Given the description of an element on the screen output the (x, y) to click on. 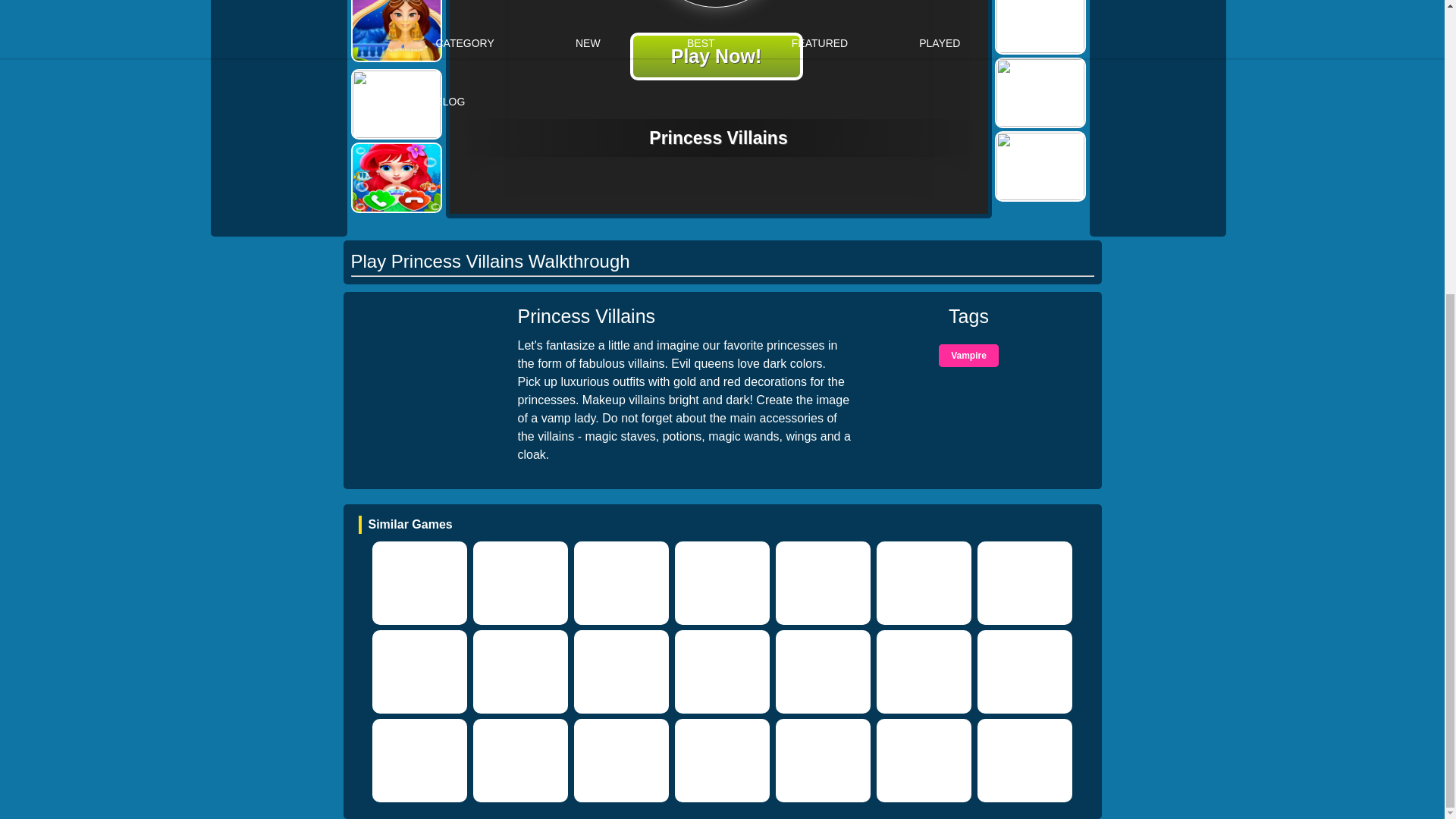
Vampire (968, 354)
